Given the description of an element on the screen output the (x, y) to click on. 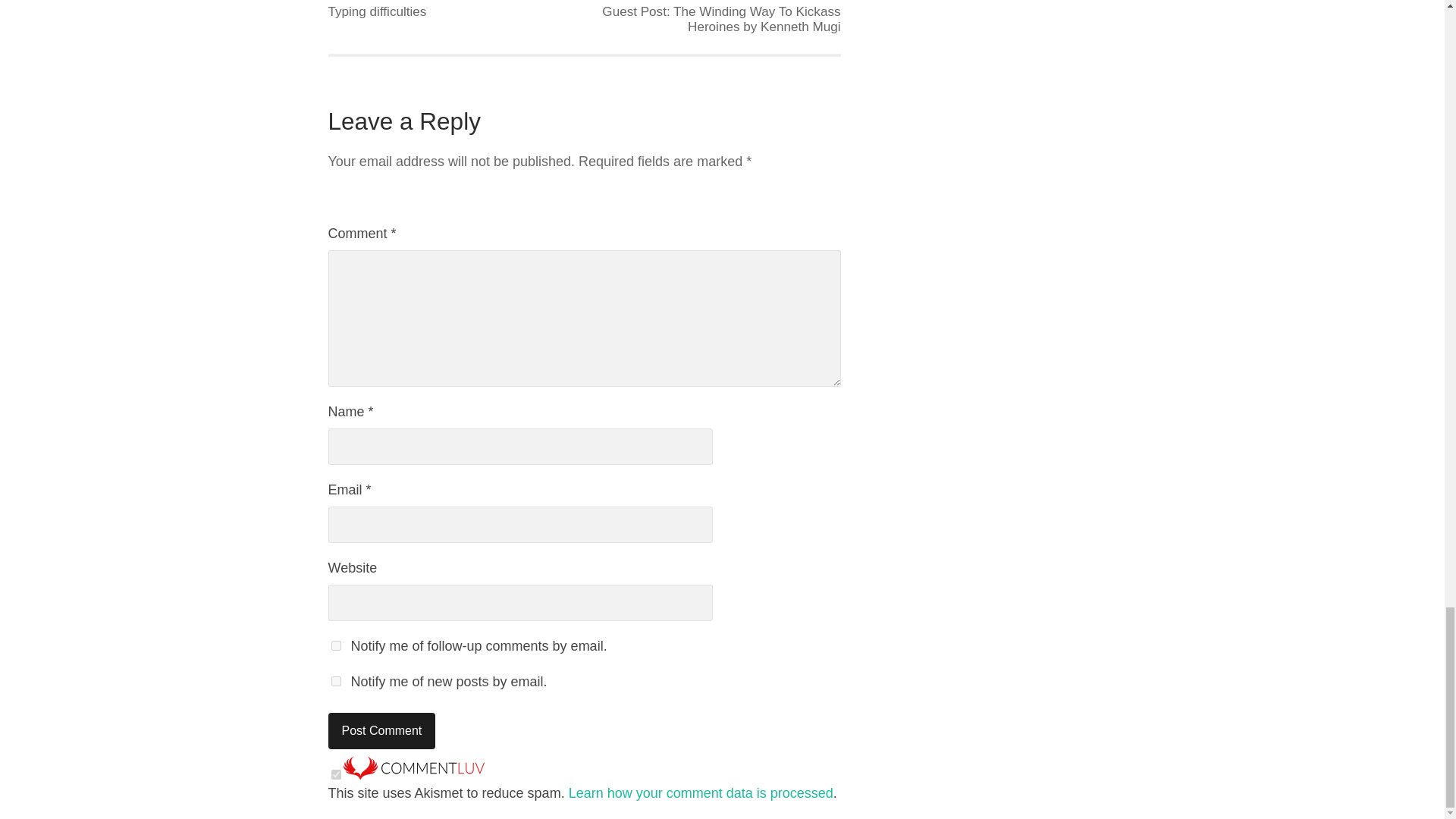
on (335, 774)
Post Comment (381, 730)
subscribe (335, 681)
subscribe (335, 645)
CommentLuv is enabled (412, 774)
